Given the description of an element on the screen output the (x, y) to click on. 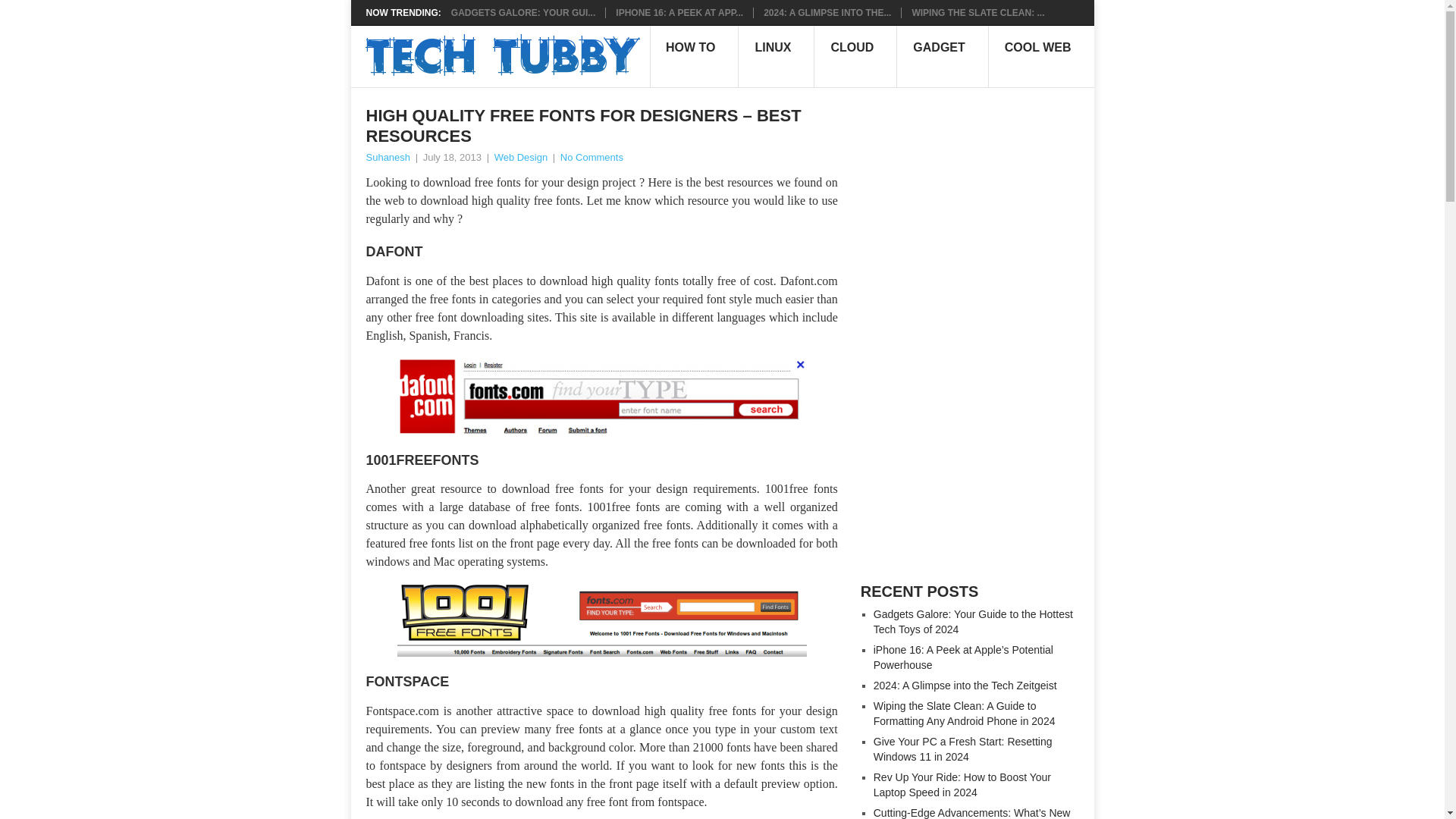
HOW TO (693, 56)
IPHONE 16: A PEEK AT APP... (678, 12)
1001FREEFONTS (422, 457)
COOL WEB (1041, 56)
WIPING THE SLATE CLEAN: ... (977, 12)
No Comments (591, 156)
CLOUD (854, 56)
DAFONT (393, 249)
2024: A GLIMPSE INTO THE... (826, 12)
